Given the description of an element on the screen output the (x, y) to click on. 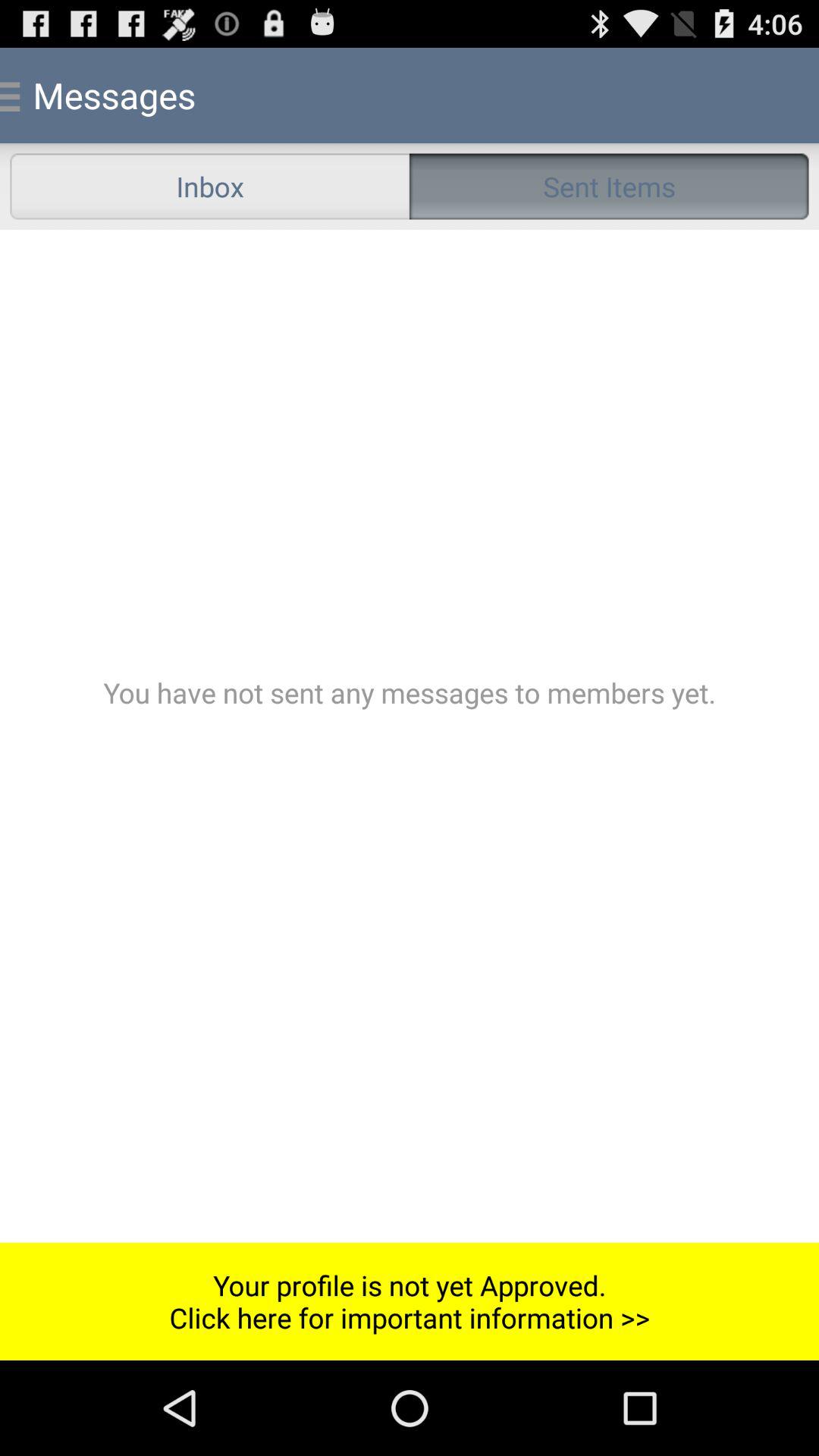
jump until inbox (209, 186)
